Given the description of an element on the screen output the (x, y) to click on. 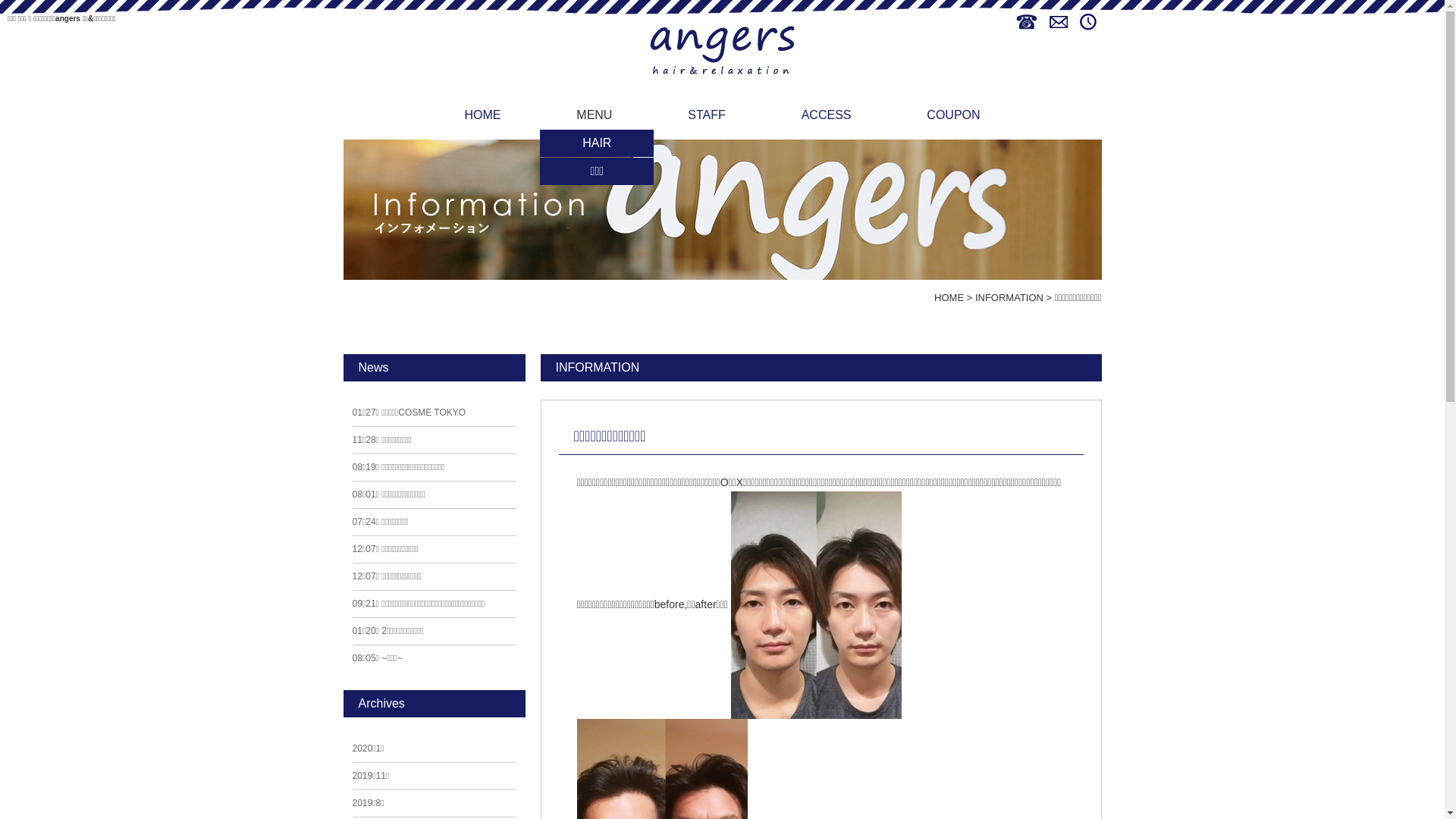
INFORMATION Element type: text (597, 366)
STAFF Element type: text (705, 114)
ACCESS Element type: text (826, 114)
HAIR Element type: text (596, 142)
HOME Element type: text (948, 297)
COUPON Element type: text (952, 114)
INFORMATION Element type: text (1009, 297)
HOME Element type: text (482, 114)
